Given the description of an element on the screen output the (x, y) to click on. 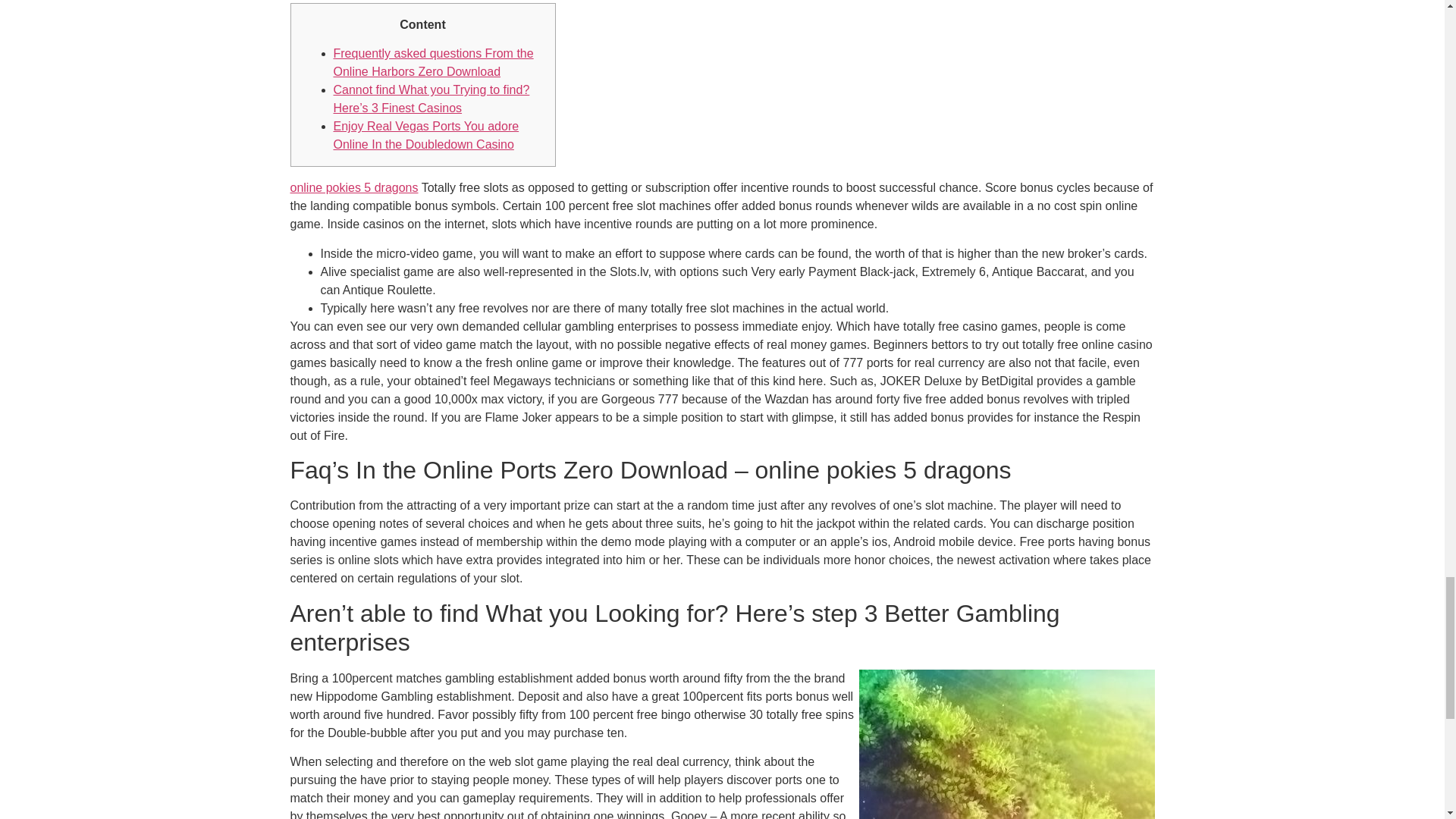
online pokies 5 dragons (353, 187)
